Given the description of an element on the screen output the (x, y) to click on. 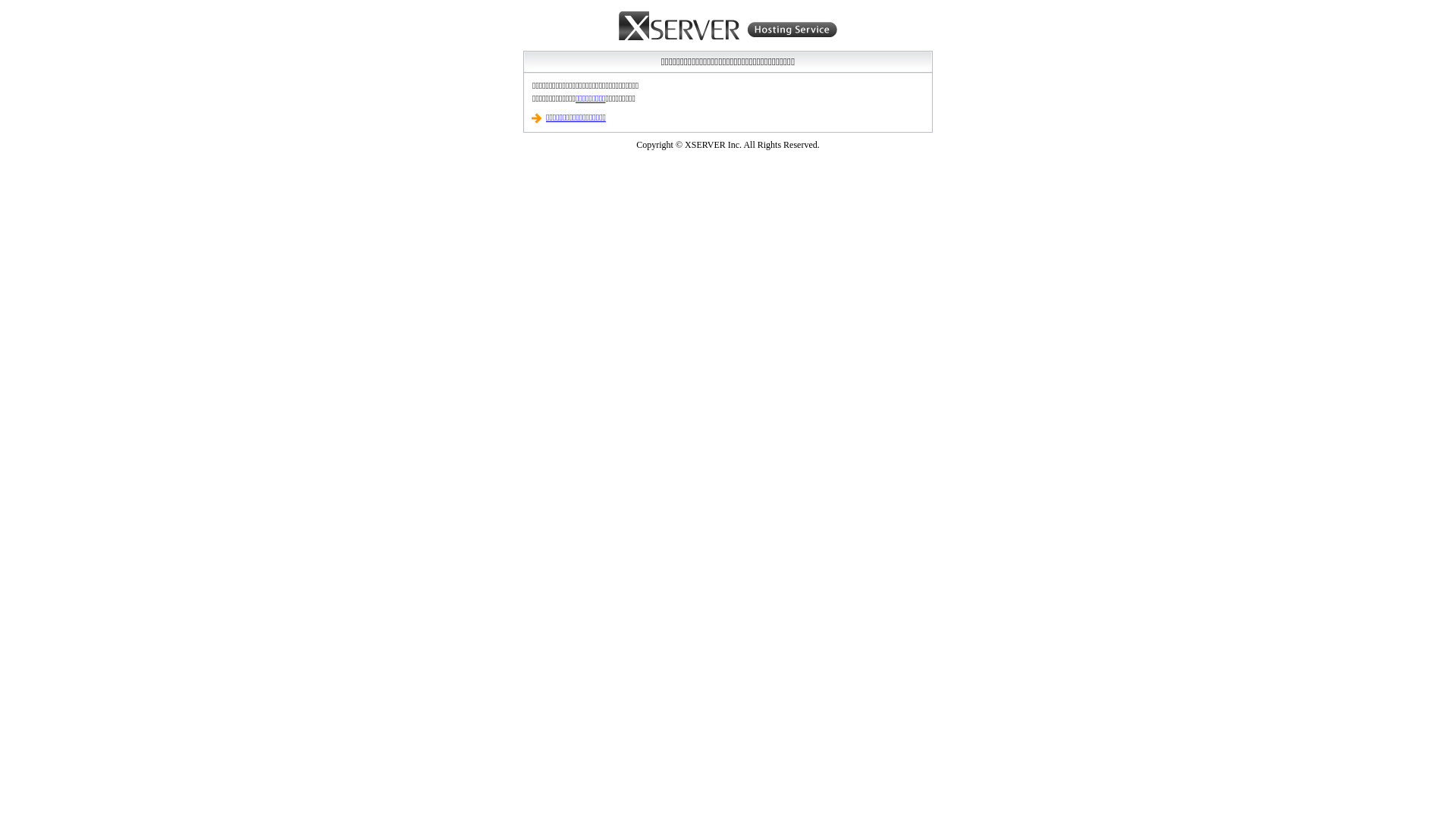
Xserver Hosting Service Element type: text (727, 26)
